Given the description of an element on the screen output the (x, y) to click on. 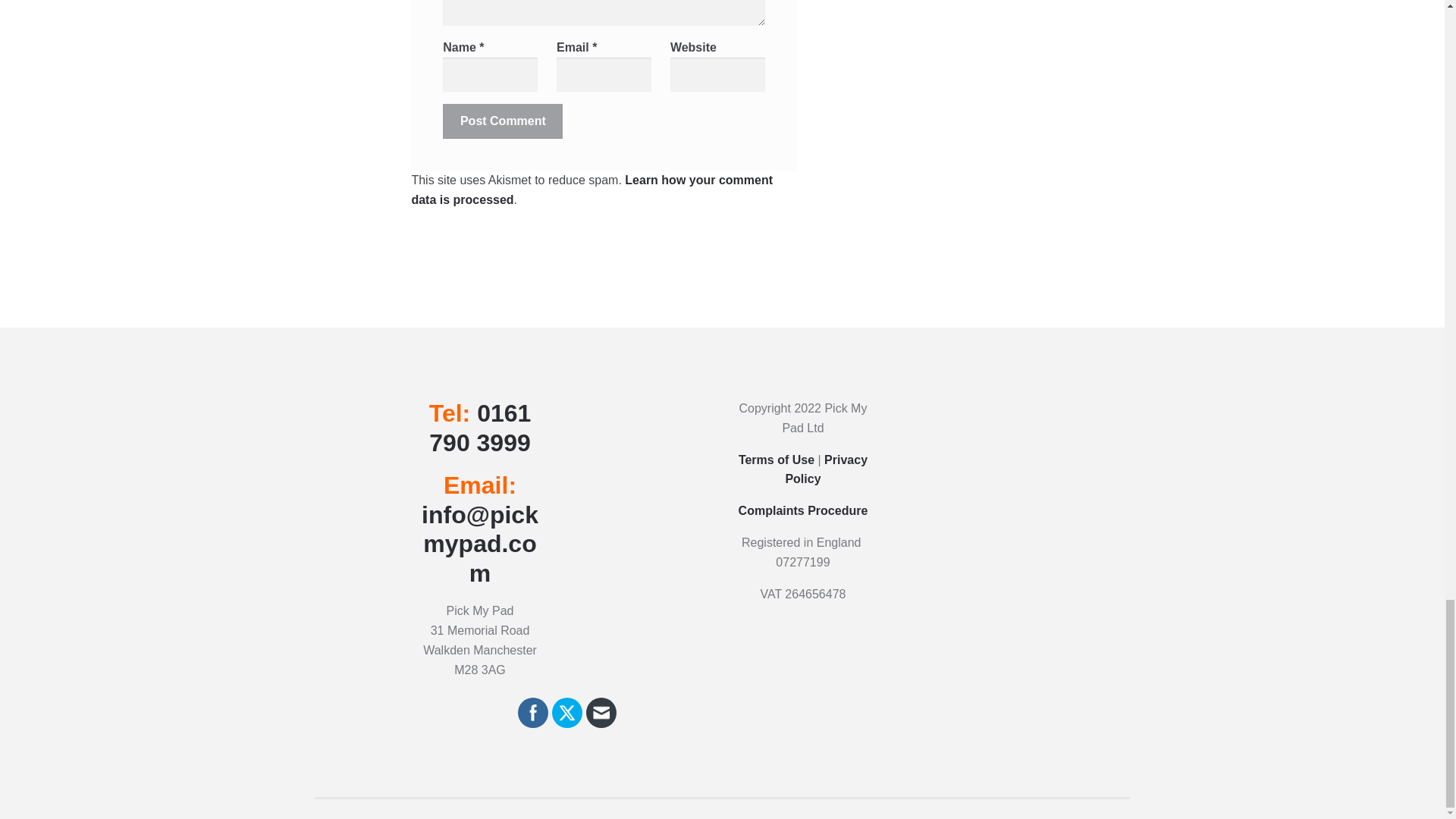
Facebook (532, 712)
Post Comment (502, 121)
Twitter (567, 712)
